Given the description of an element on the screen output the (x, y) to click on. 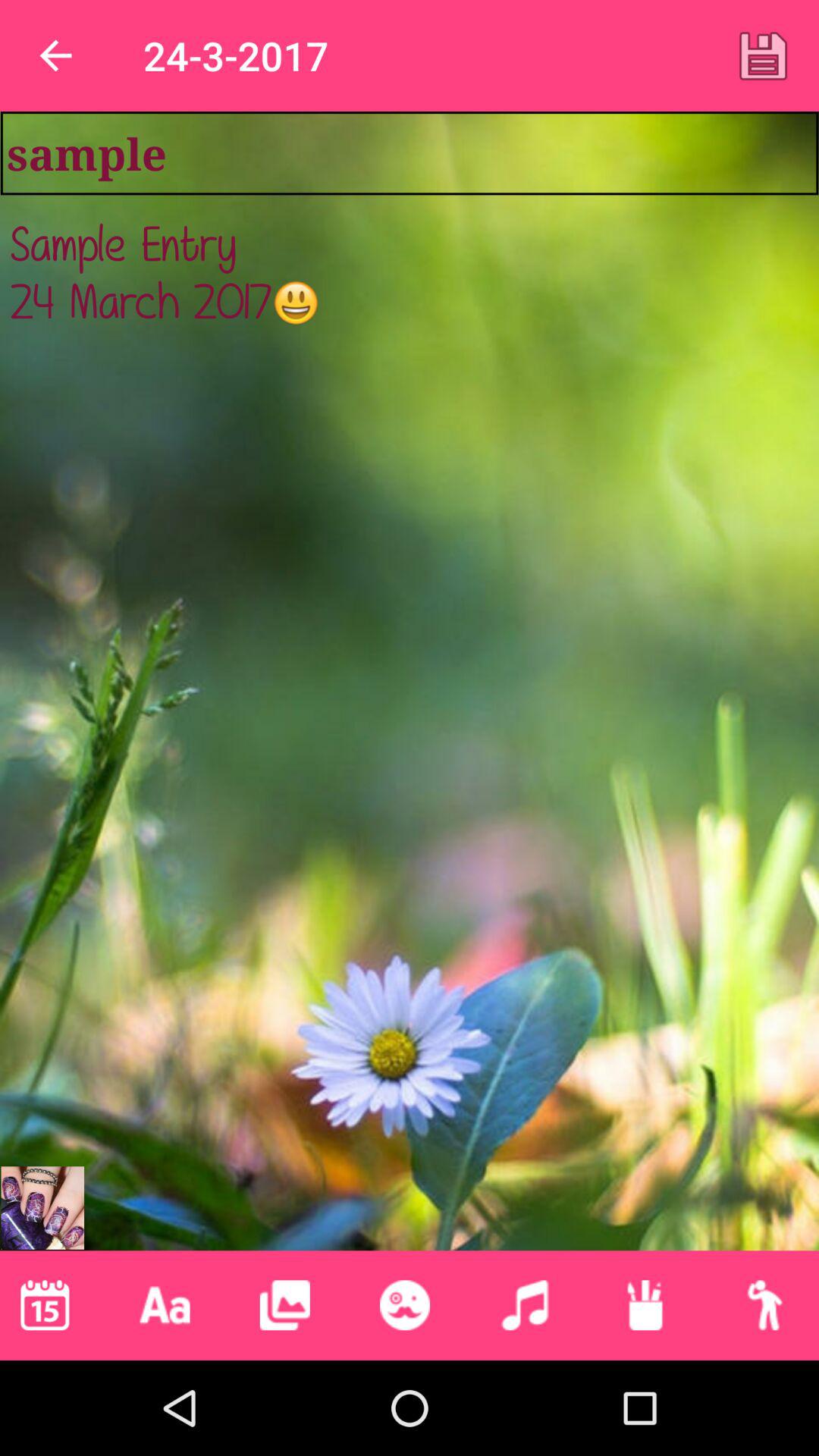
turn off app next to the 24-3-2017 app (55, 55)
